Given the description of an element on the screen output the (x, y) to click on. 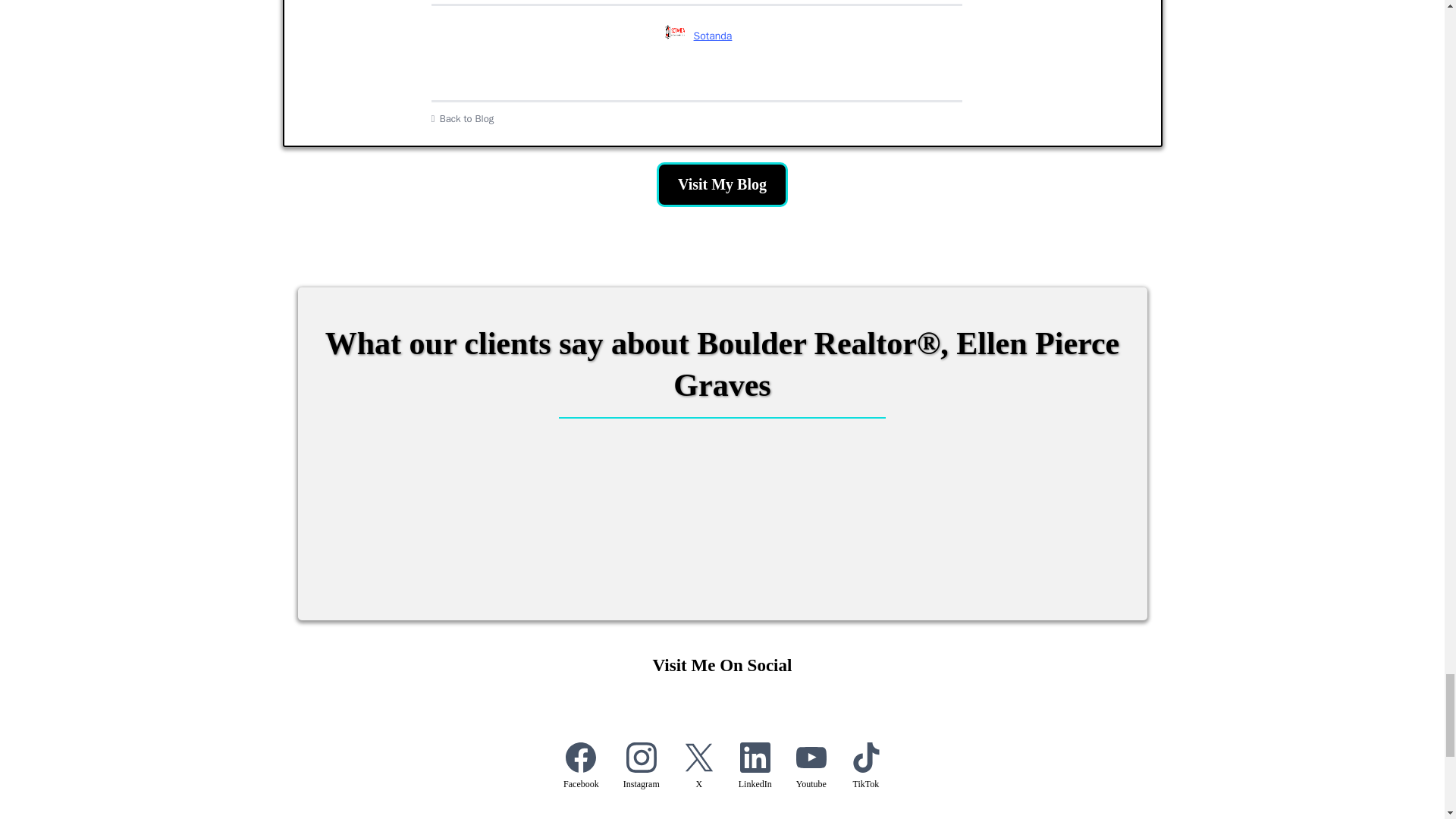
Visit My Blog (721, 184)
Sotanda (696, 36)
Back to Blog (695, 119)
